Given the description of an element on the screen output the (x, y) to click on. 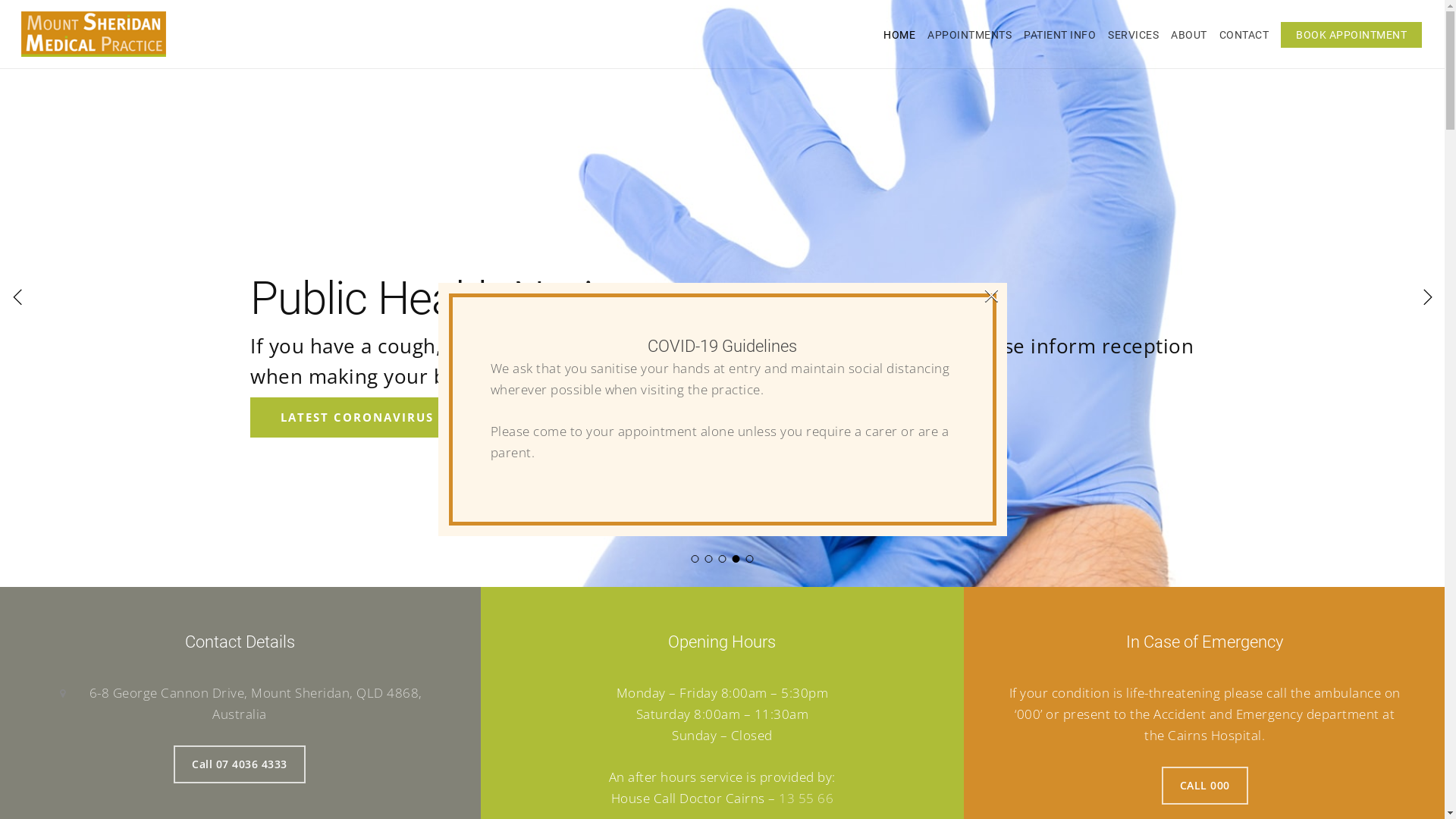
HOME Element type: text (899, 34)
13 55 66 Element type: text (805, 797)
CALL 07 4036 4333 Element type: text (636, 417)
CONTACT Element type: text (1244, 34)
APPOINTMENTS Element type: text (969, 34)
ABOUT Element type: text (1188, 34)
SERVICES Element type: text (1132, 34)
BOOK APPOINTMENT Element type: text (1350, 34)
Call 07 4036 4333 Element type: text (239, 764)
PATIENT INFO Element type: text (1059, 34)
LATEST CORONAVIRUS UPDATES Element type: text (389, 417)
CALL 000 Element type: text (1204, 785)
